Given the description of an element on the screen output the (x, y) to click on. 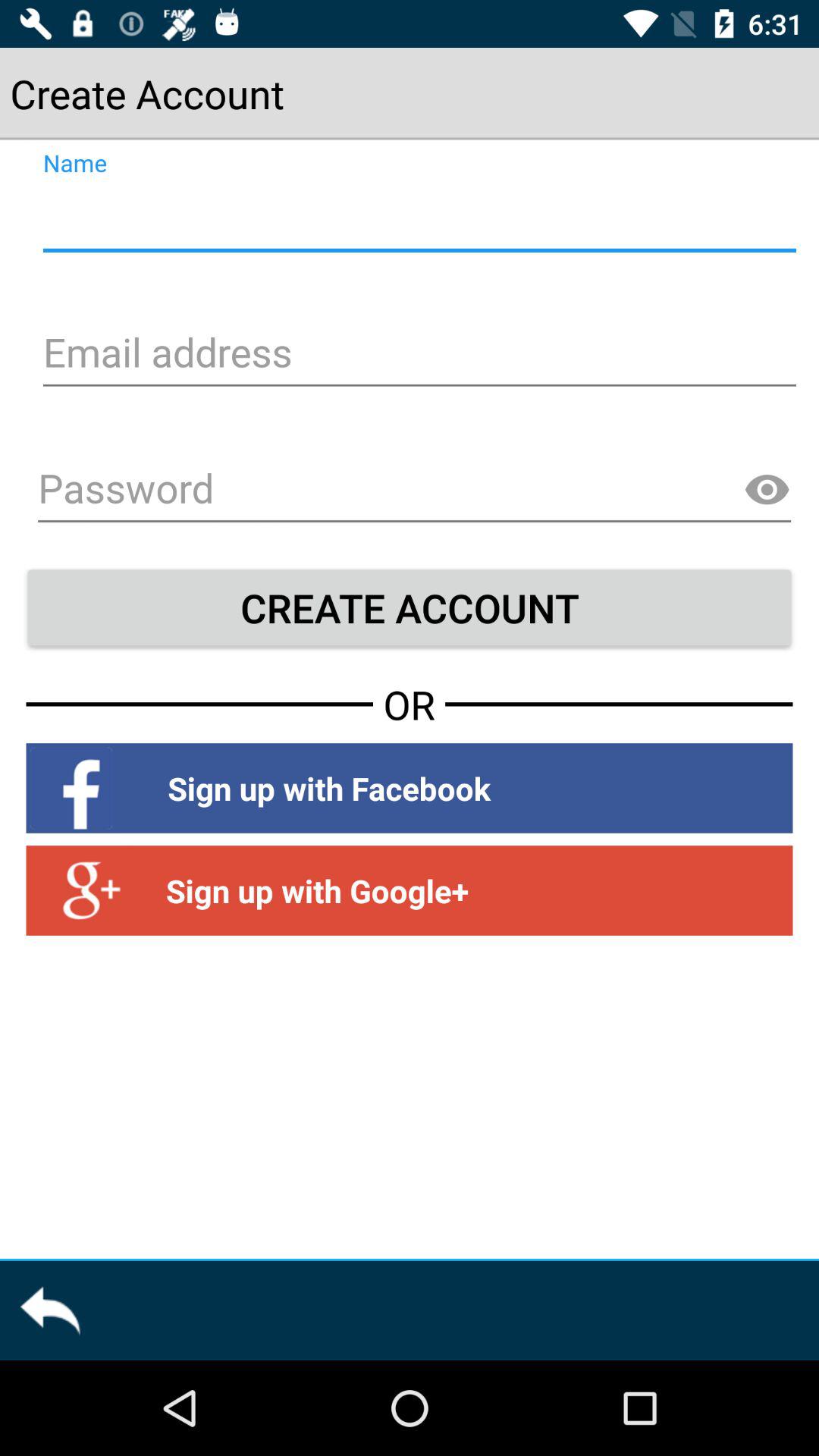
share the article (49, 1310)
